Given the description of an element on the screen output the (x, y) to click on. 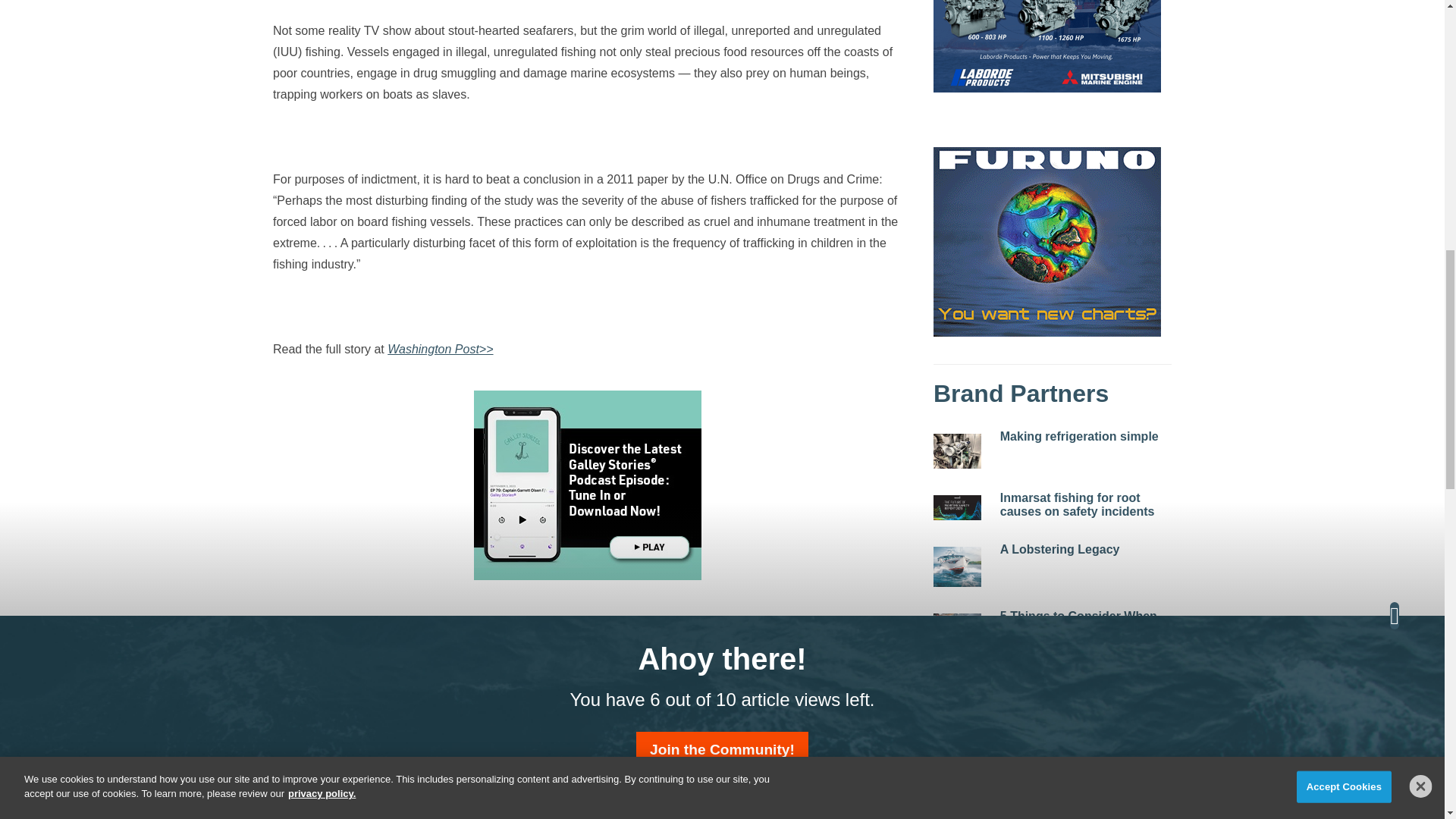
Connect with us on LinkedIn (600, 756)
Email Us (574, 756)
